Given the description of an element on the screen output the (x, y) to click on. 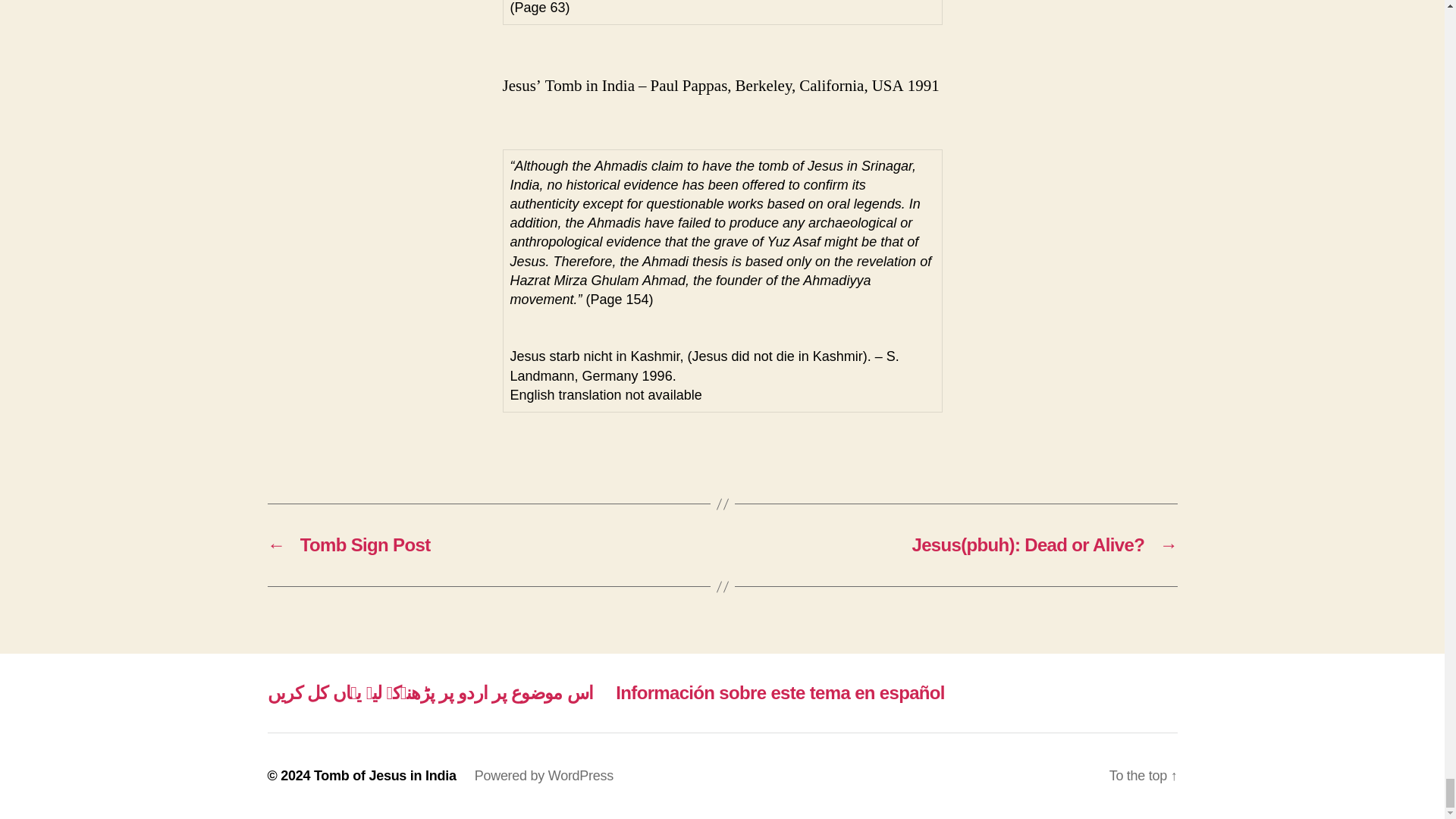
Tomb of Jesus in India (385, 775)
Powered by WordPress (543, 775)
